Given the description of an element on the screen output the (x, y) to click on. 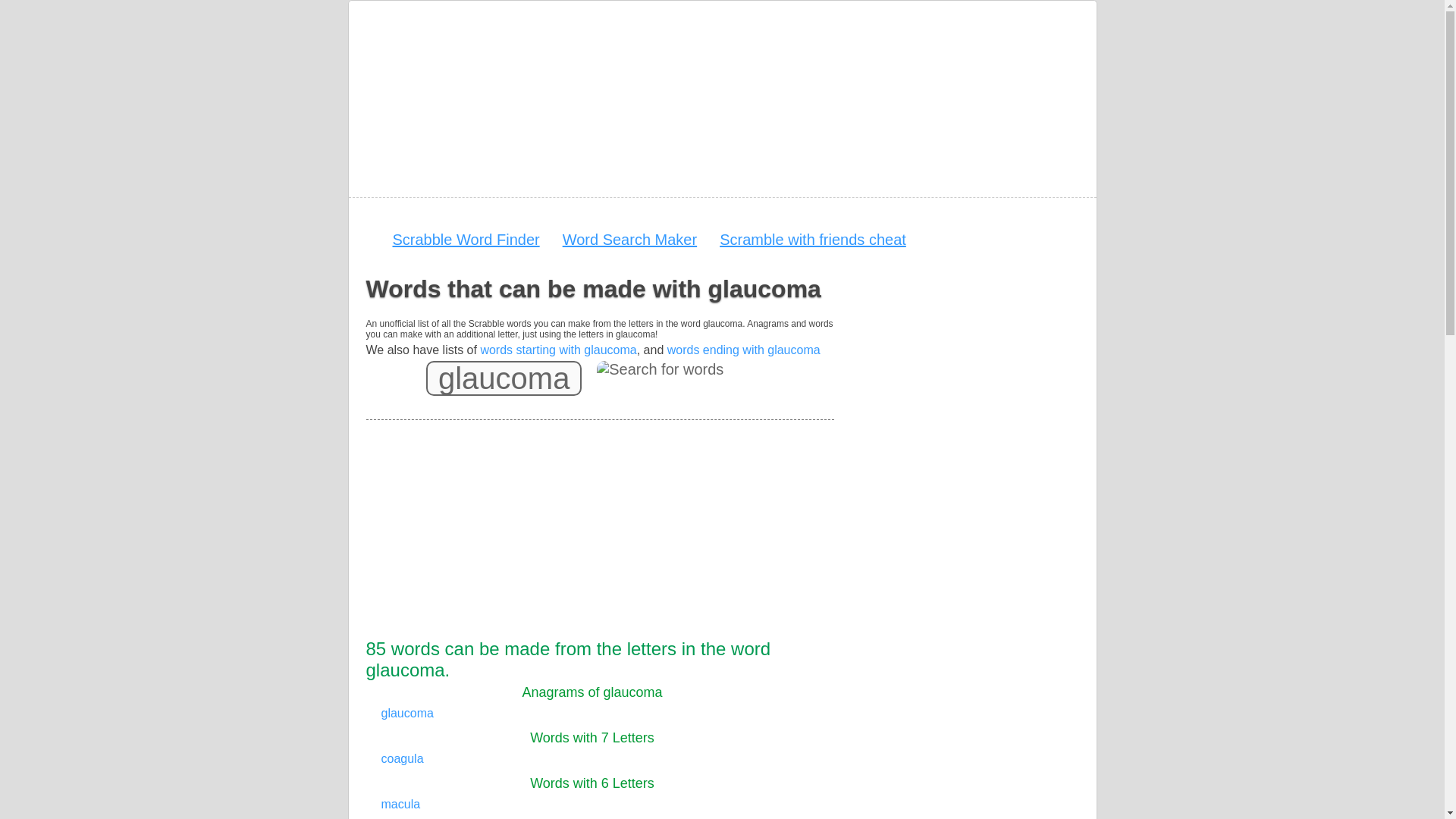
glaucoma (503, 378)
Scramble with friends cheat (812, 239)
A Cheat for the game Scramble with friends (812, 239)
words starting with glaucoma (558, 349)
Scrabble Word Finder (466, 239)
words starting with glaucoma (558, 349)
macula (400, 803)
Find words for Scrabble (466, 239)
Make Word Searches (629, 239)
The words 'glaucoma' (406, 712)
coagula (401, 758)
glaucoma (406, 712)
The words 'coagula' (401, 758)
words ending with glaucoma (743, 349)
The words 'macula' (400, 803)
